Given the description of an element on the screen output the (x, y) to click on. 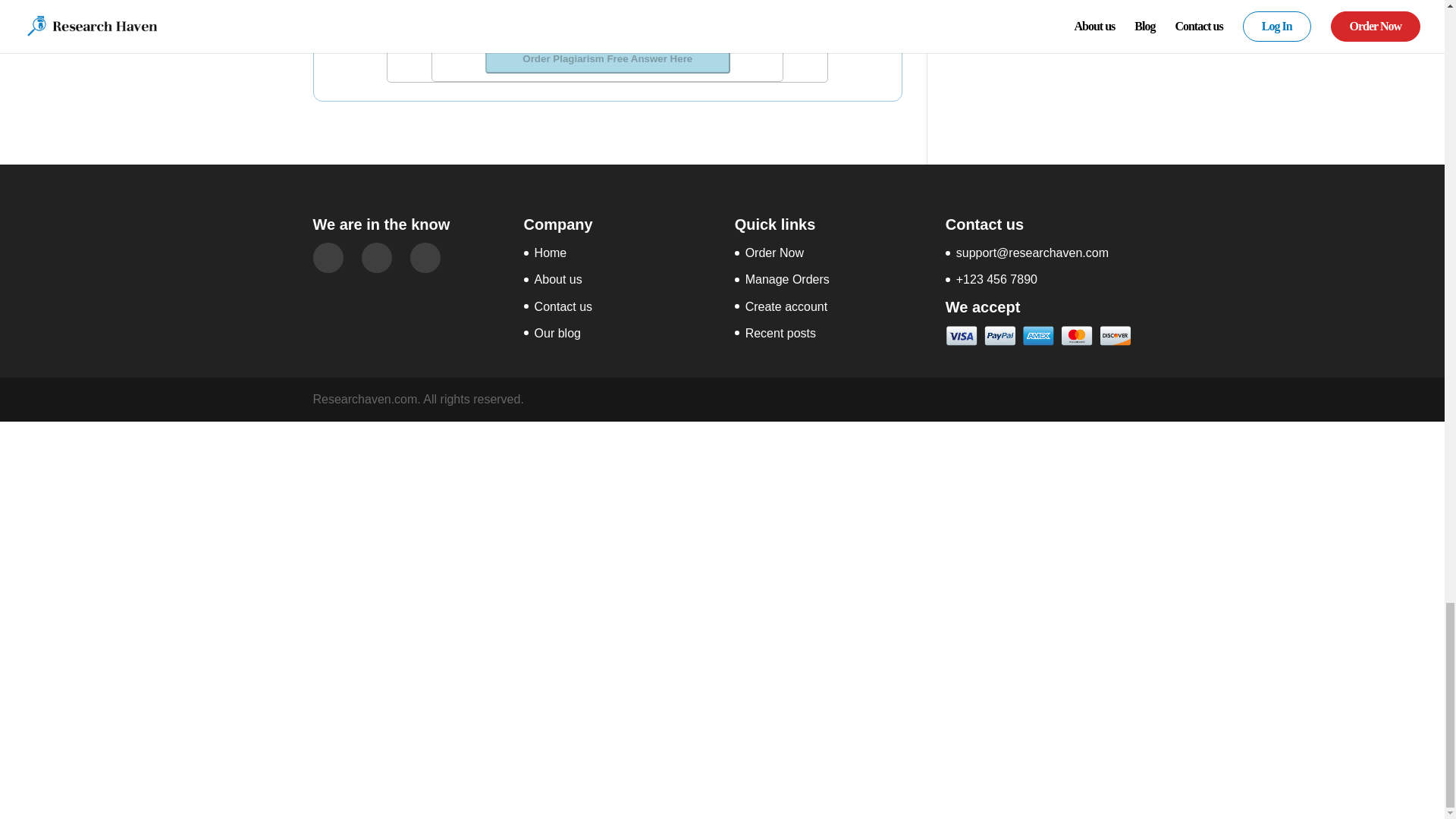
Create account (786, 306)
Order Now (774, 252)
About us (558, 278)
Manage Orders (787, 278)
Order Plagiarism Free Answer Here (607, 58)
Our blog (557, 332)
Recent posts (780, 332)
Contact us (563, 306)
Order Plagiarism Free Answer Here (607, 57)
Home (550, 252)
